Given the description of an element on the screen output the (x, y) to click on. 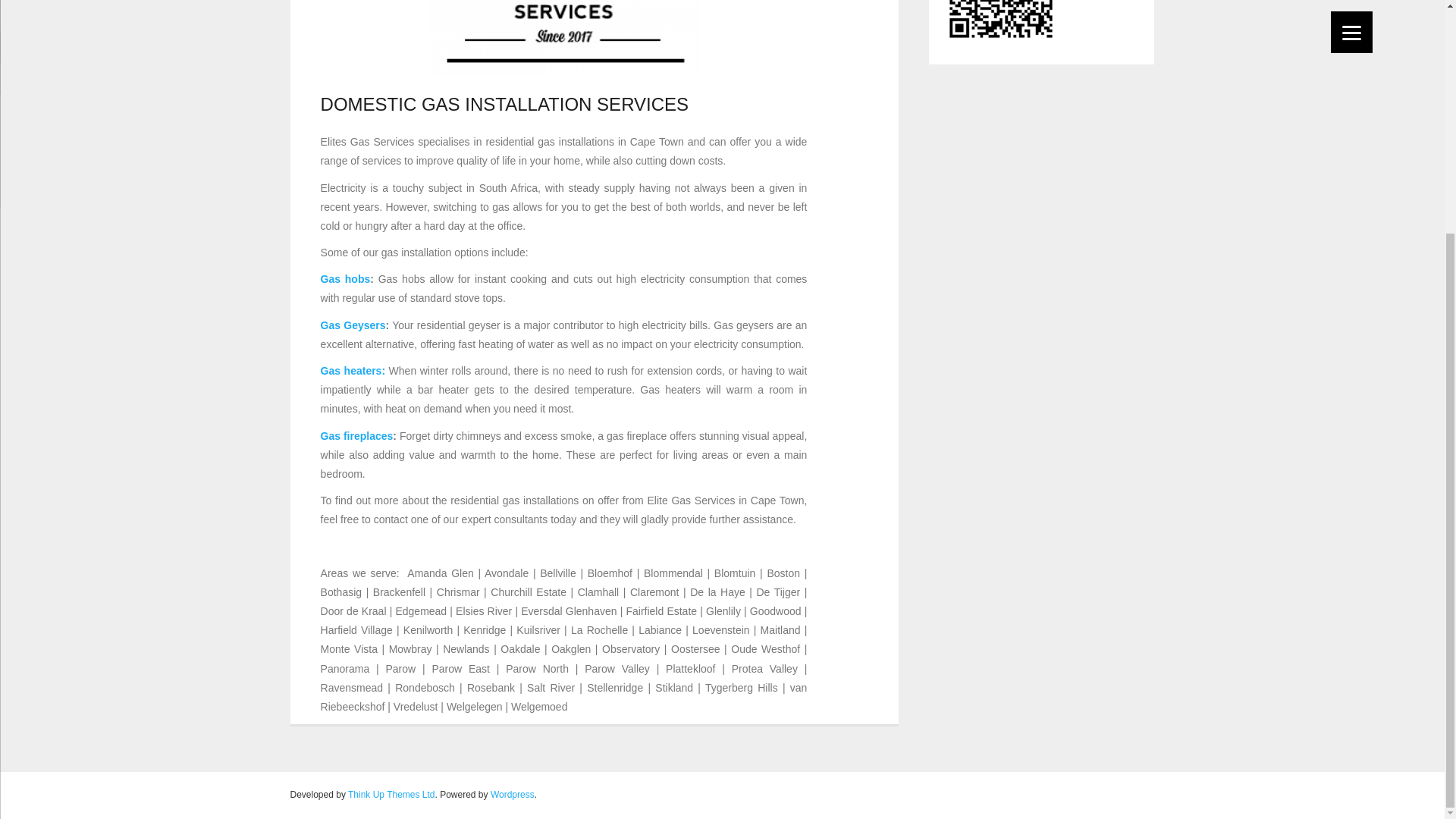
Wordpress (512, 794)
Gas hobs (345, 278)
Think Up Themes Ltd (391, 794)
Gas fireplaces (356, 435)
Gas Geysers (352, 325)
Gas heaters: (352, 370)
